Given the description of an element on the screen output the (x, y) to click on. 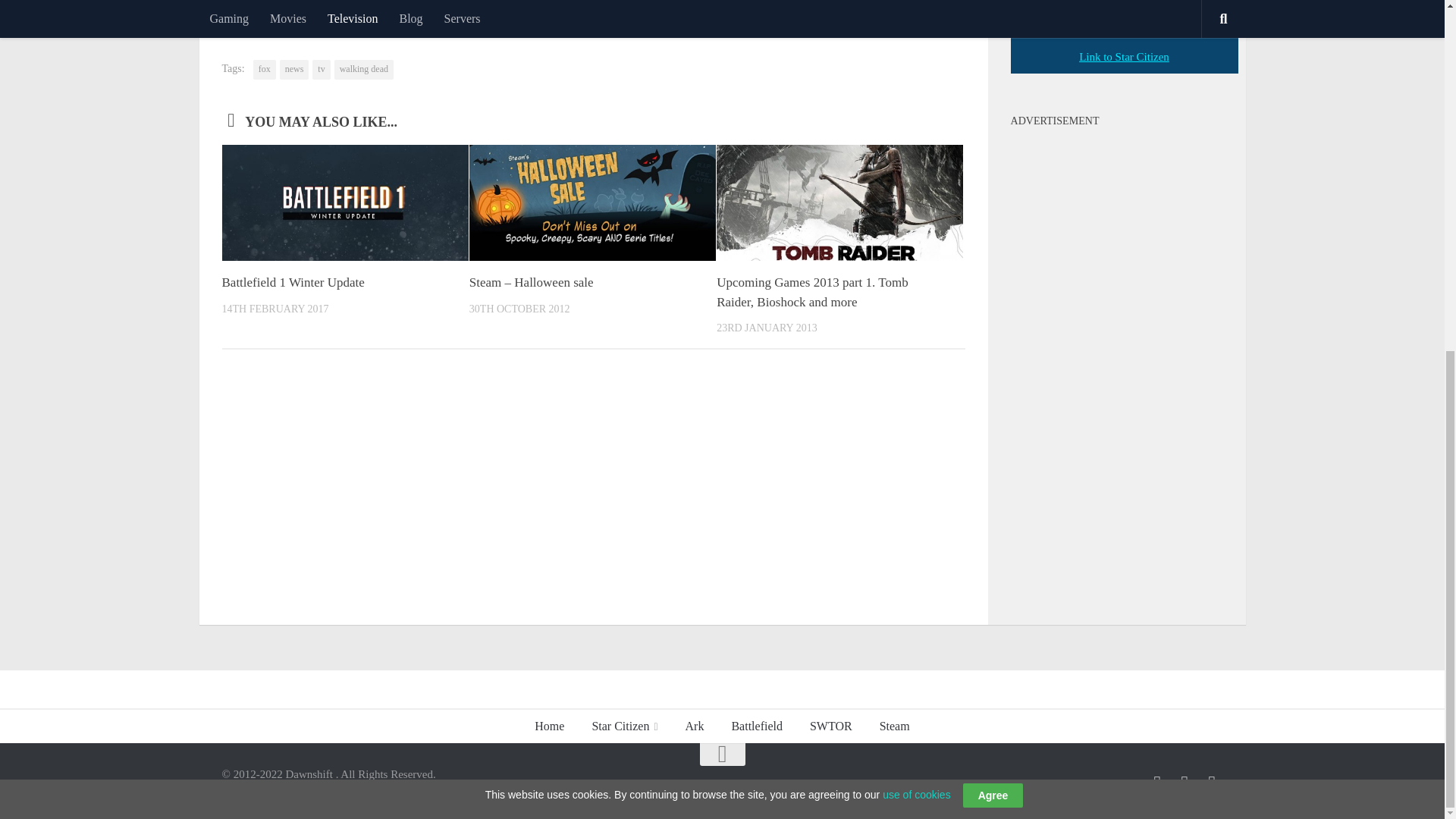
Advertisement (1123, 361)
fox (264, 69)
Battlefield 1 Winter Update (292, 282)
walking dead (363, 69)
news (293, 69)
tv (321, 69)
